Given the description of an element on the screen output the (x, y) to click on. 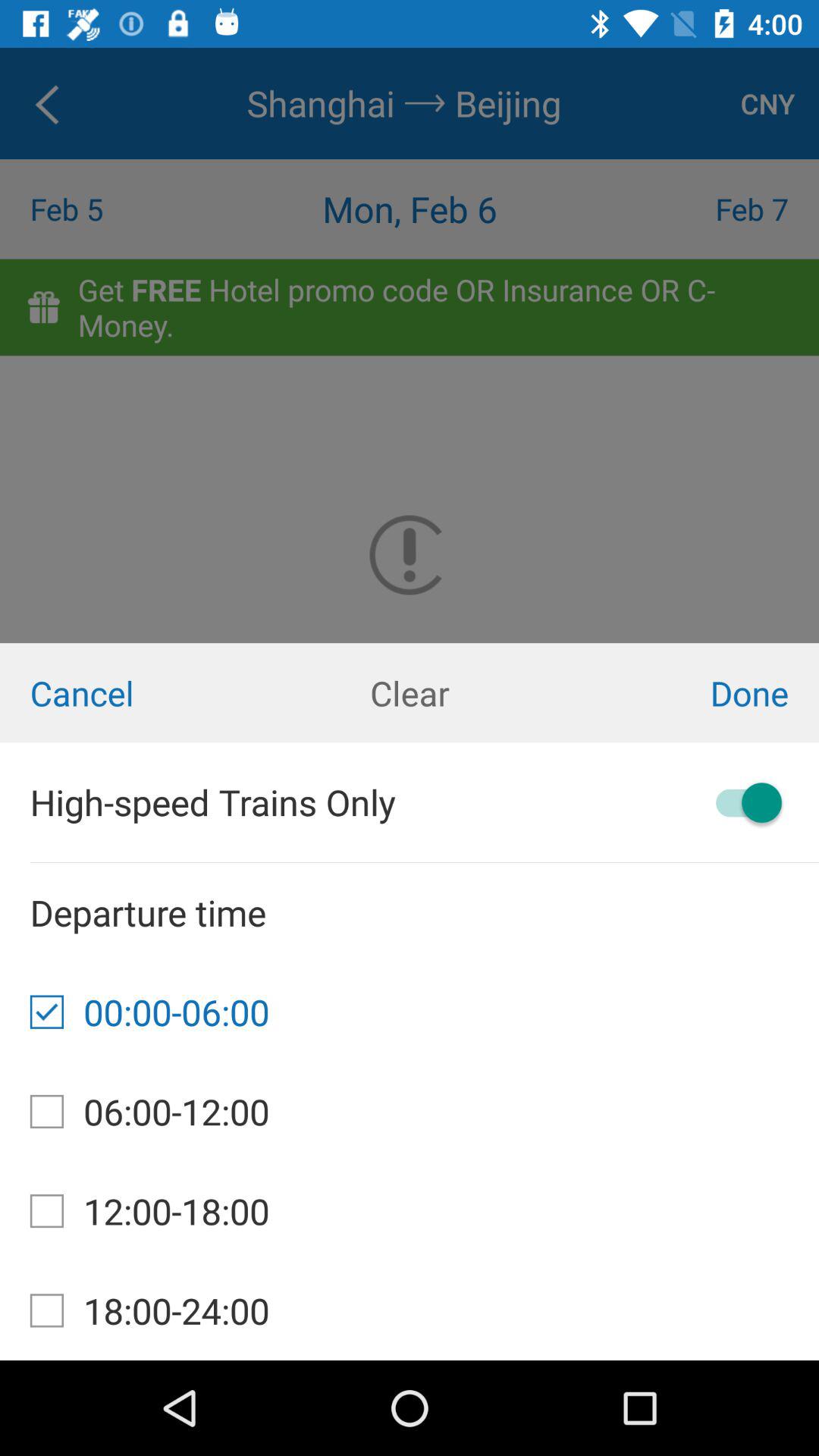
switch high-speed trains only option (741, 802)
